Given the description of an element on the screen output the (x, y) to click on. 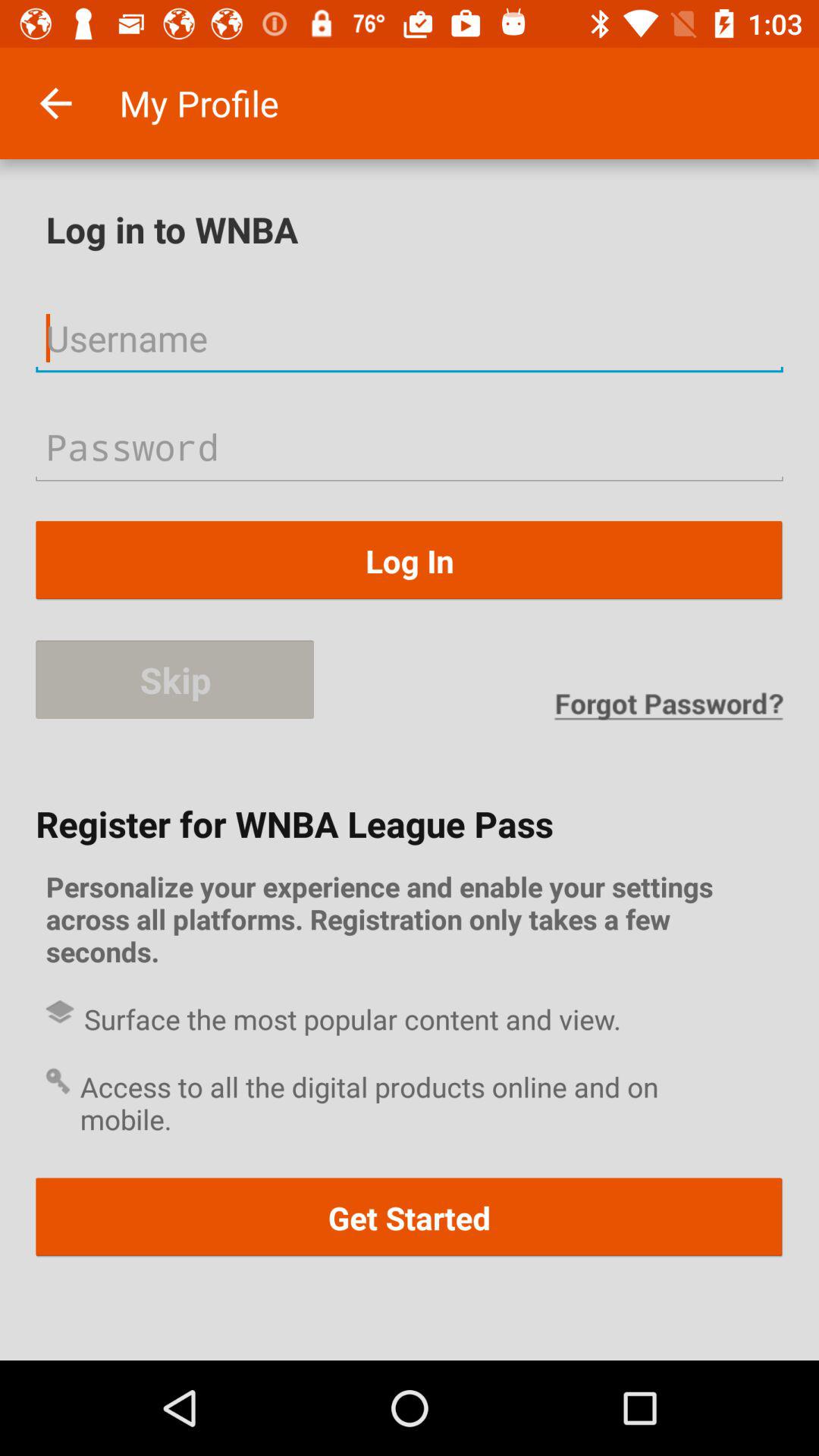
turn off icon below the log in item (174, 680)
